Given the description of an element on the screen output the (x, y) to click on. 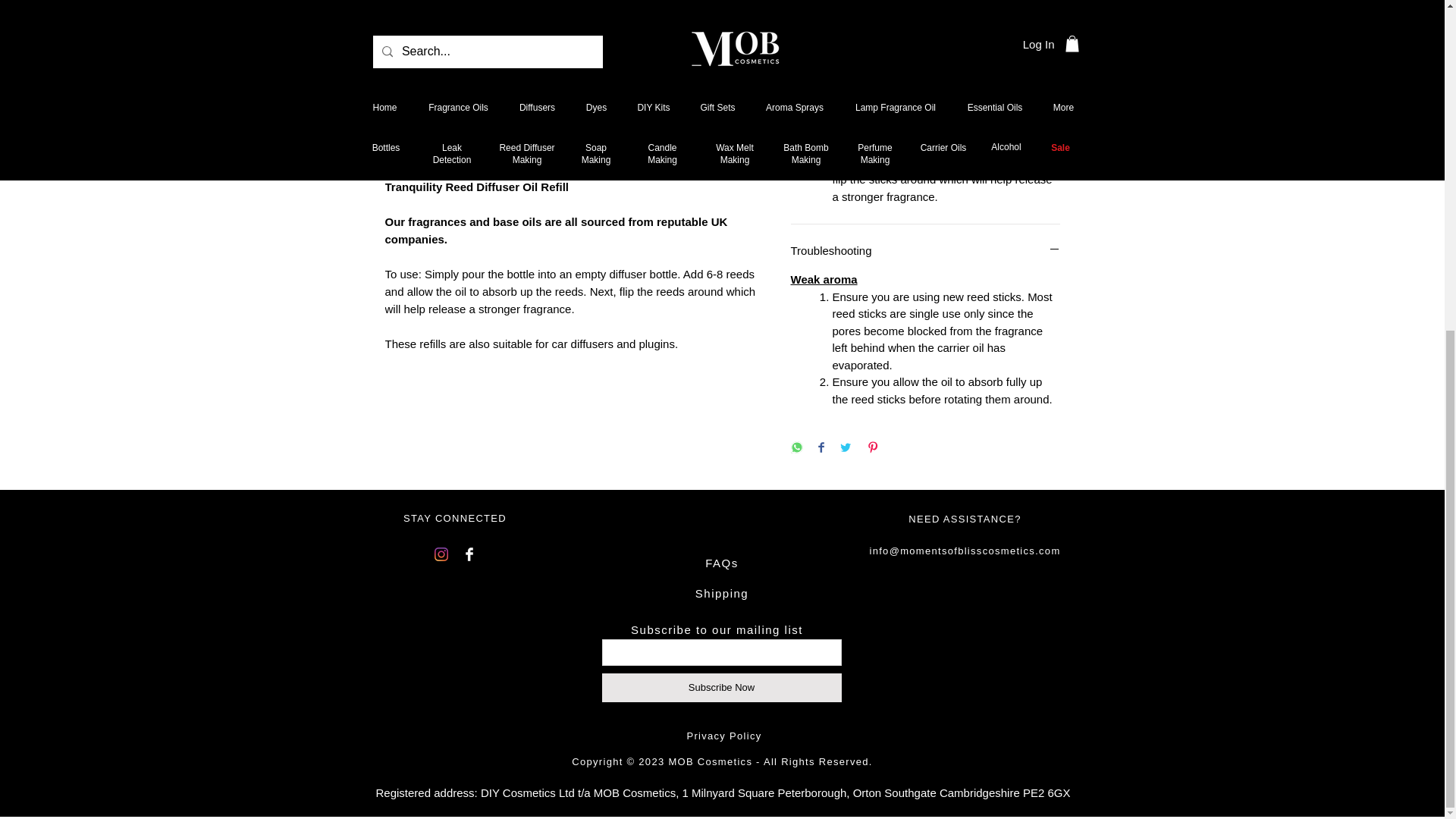
Smile.io Rewards Program Launcher (69, 232)
